Given the description of an element on the screen output the (x, y) to click on. 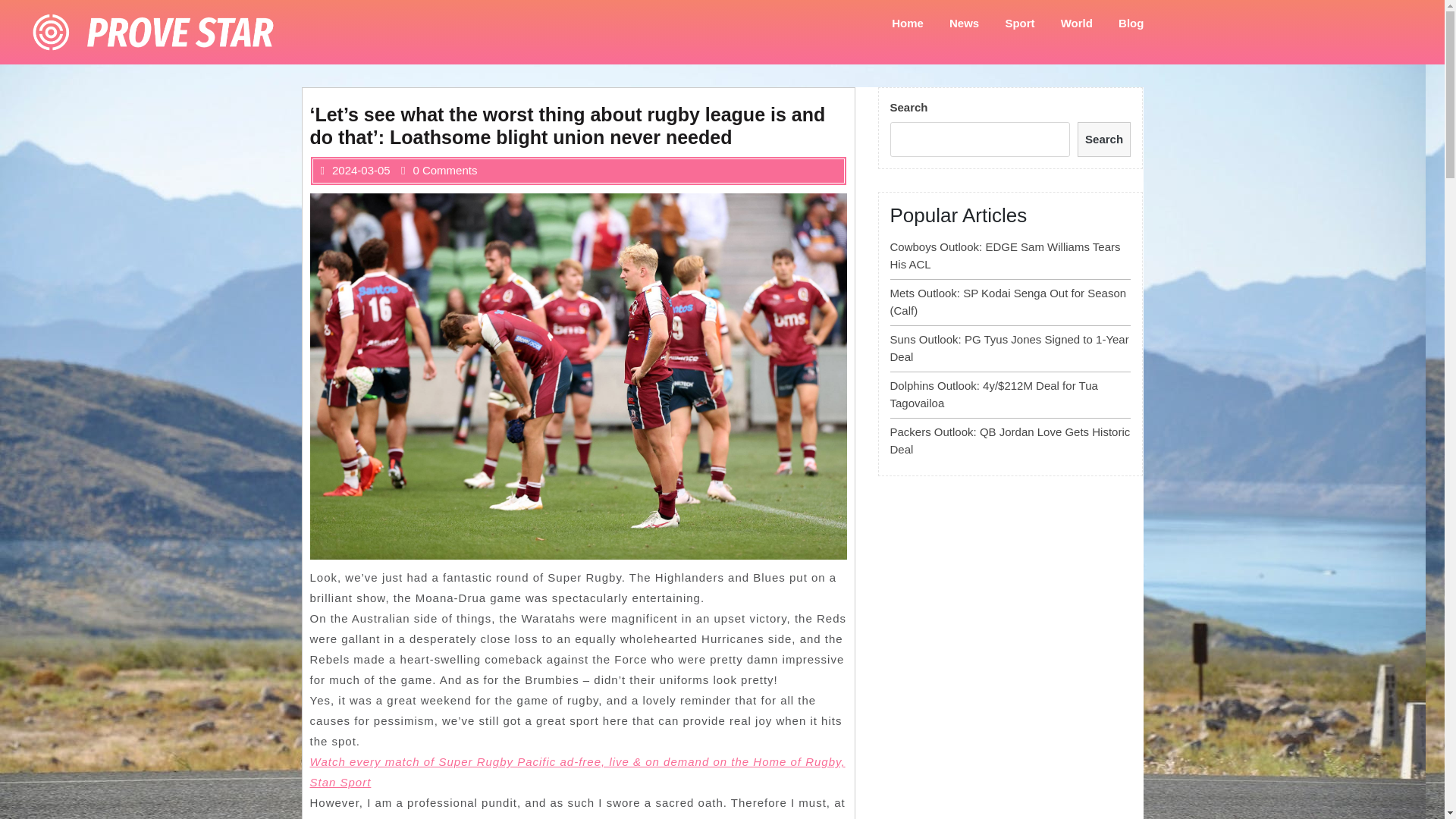
Cowboys Outlook: EDGE Sam Williams Tears His ACL (1005, 255)
Packers Outlook: QB Jordan Love Gets Historic Deal (1010, 440)
World (1076, 23)
News (963, 23)
Search (1104, 139)
Sport (1018, 23)
Home (907, 23)
Blog (1130, 23)
Suns Outlook: PG Tyus Jones Signed to 1-Year Deal (1009, 347)
